Given the description of an element on the screen output the (x, y) to click on. 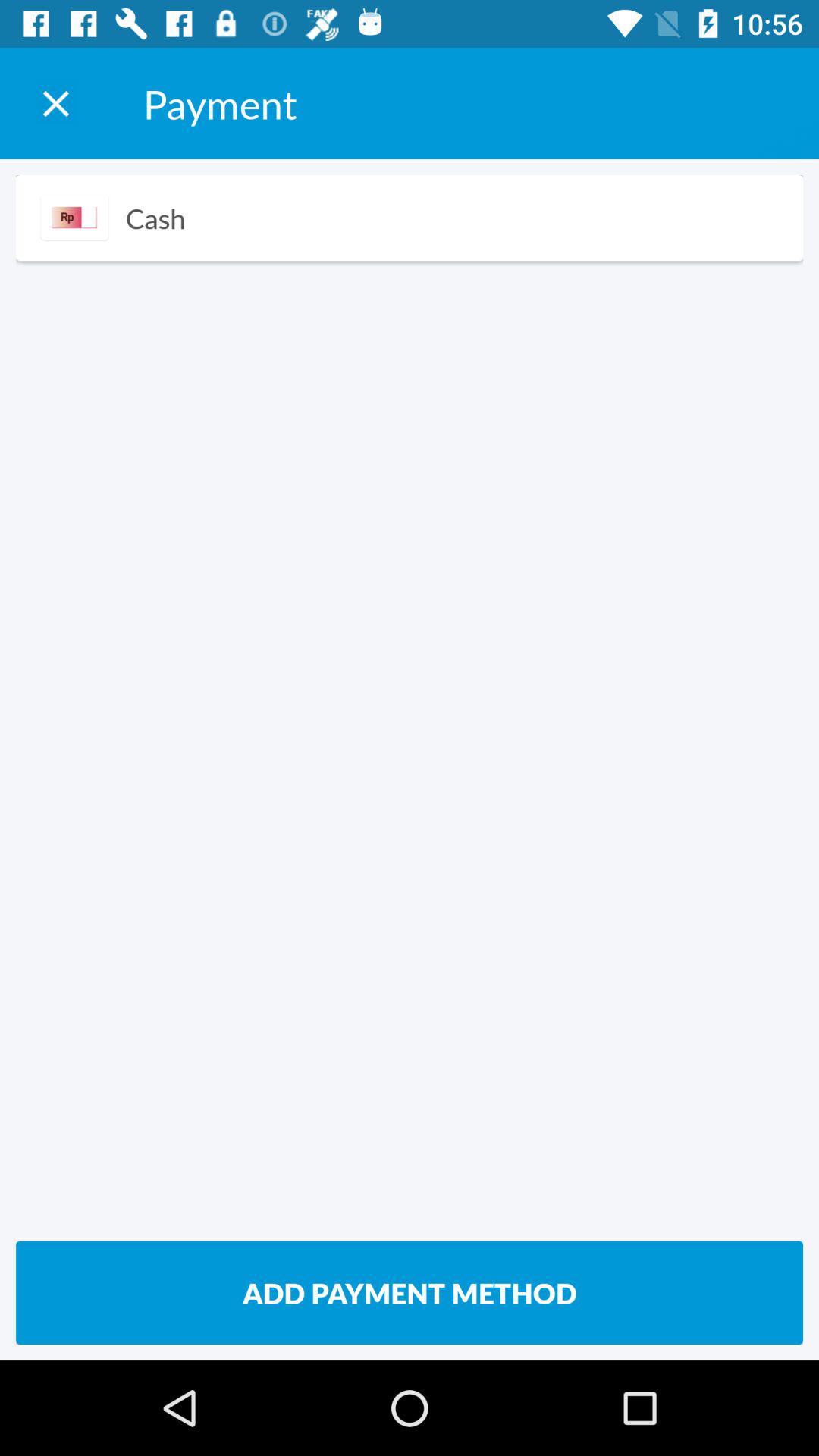
close payment window (55, 103)
